Given the description of an element on the screen output the (x, y) to click on. 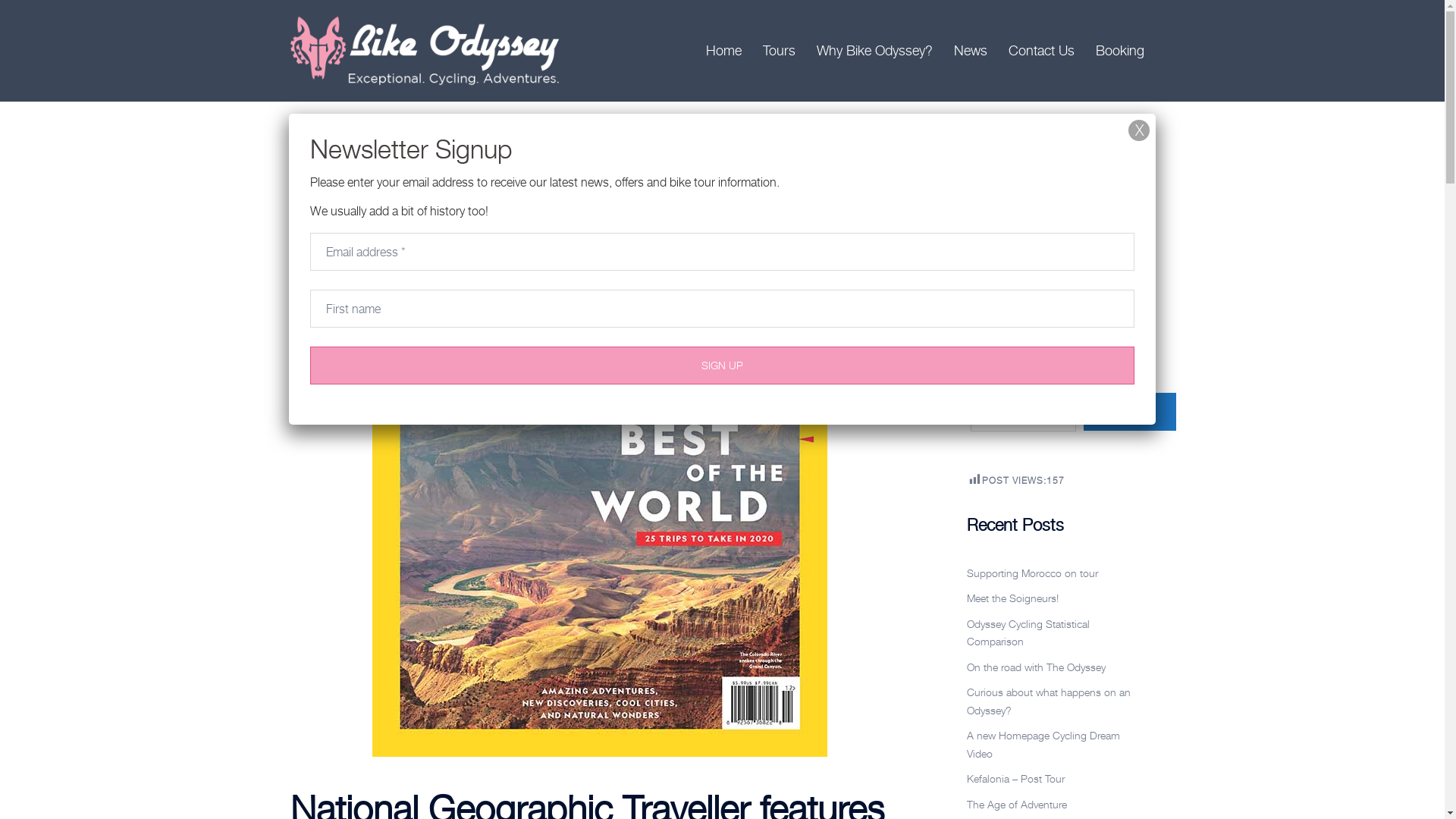
English Element type: text (1032, 317)
On the road with The Odyssey Element type: text (1035, 666)
Sign up Element type: text (722, 365)
Supporting Morocco on tour Element type: text (1032, 572)
Why Bike Odyssey? Element type: text (873, 50)
Odyssey Cycling Statistical Comparison Element type: text (1027, 632)
Search Element type: text (48, 18)
Booking Element type: text (1119, 50)
Submit Element type: text (1129, 411)
Tours Element type: text (778, 50)
Contact Us Element type: text (1041, 50)
Bike Odyssey Element type: hover (425, 48)
Meet the Soigneurs! Element type: text (1012, 597)
News Element type: text (970, 50)
The Age of Adventure Element type: text (1016, 803)
Home Element type: text (722, 50)
A new Homepage Cycling Dream Video Element type: text (1043, 743)
Curious about what happens on an Odyssey? Element type: text (1048, 700)
X Element type: text (1138, 130)
